Given the description of an element on the screen output the (x, y) to click on. 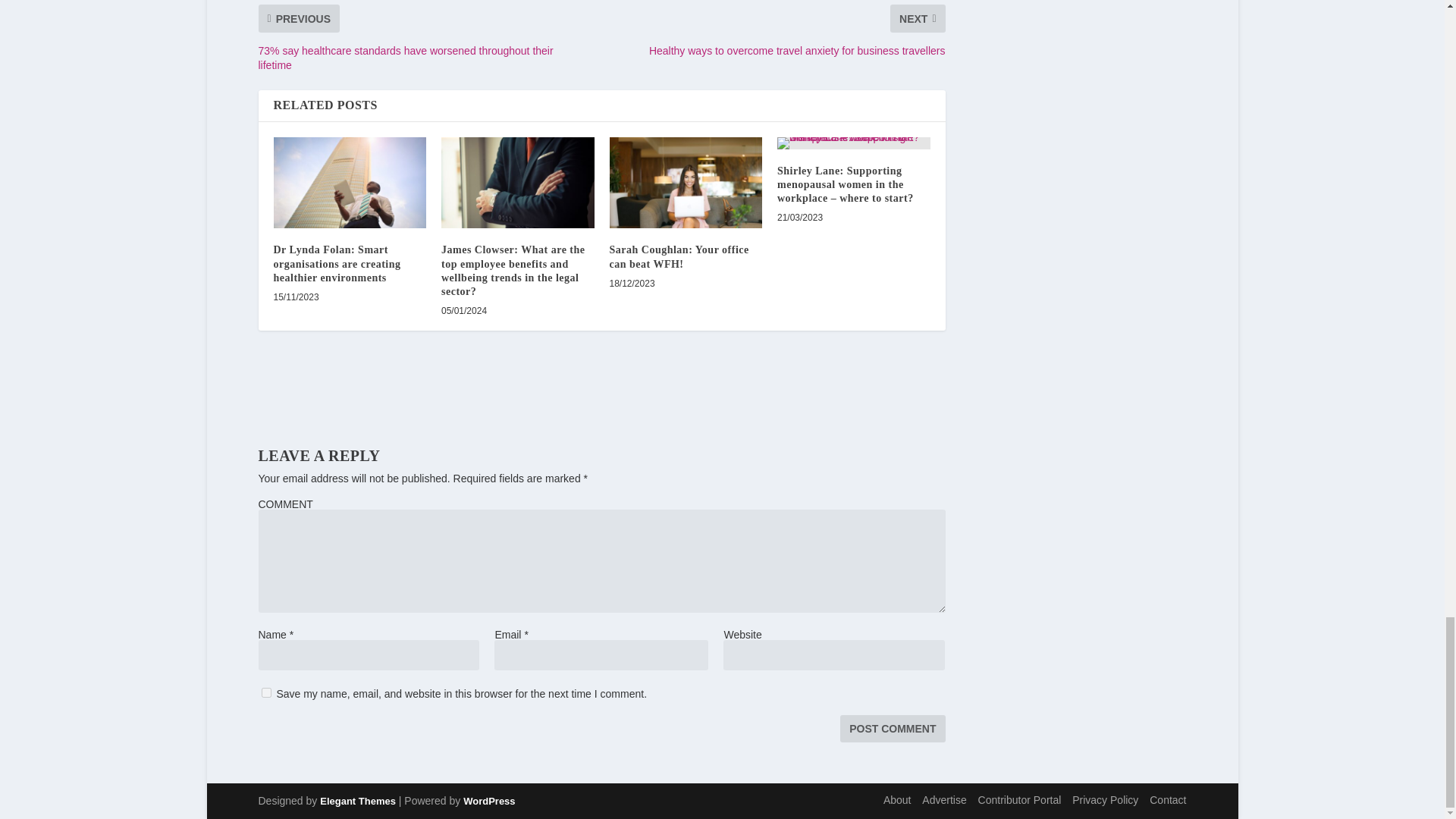
yes (265, 692)
Post Comment (892, 728)
